Given the description of an element on the screen output the (x, y) to click on. 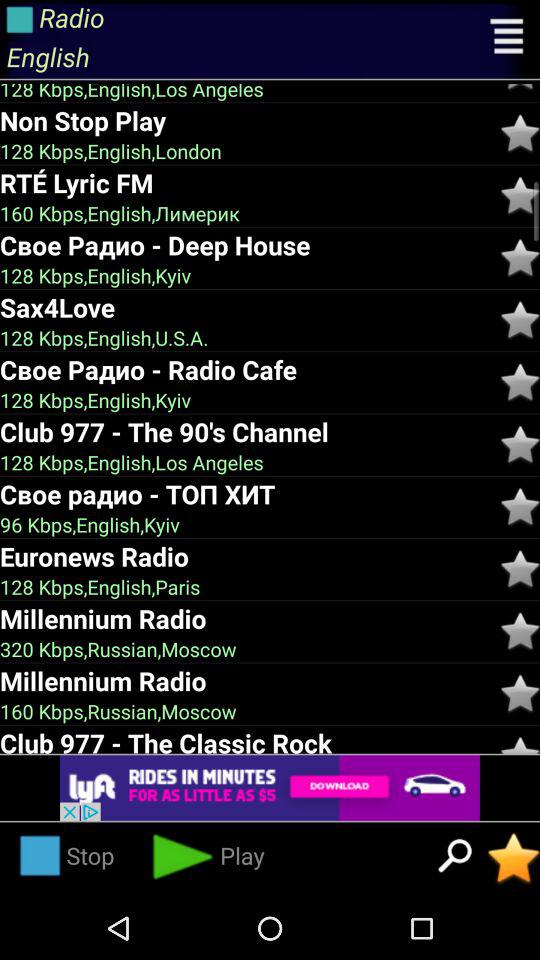
select star (520, 195)
